Given the description of an element on the screen output the (x, y) to click on. 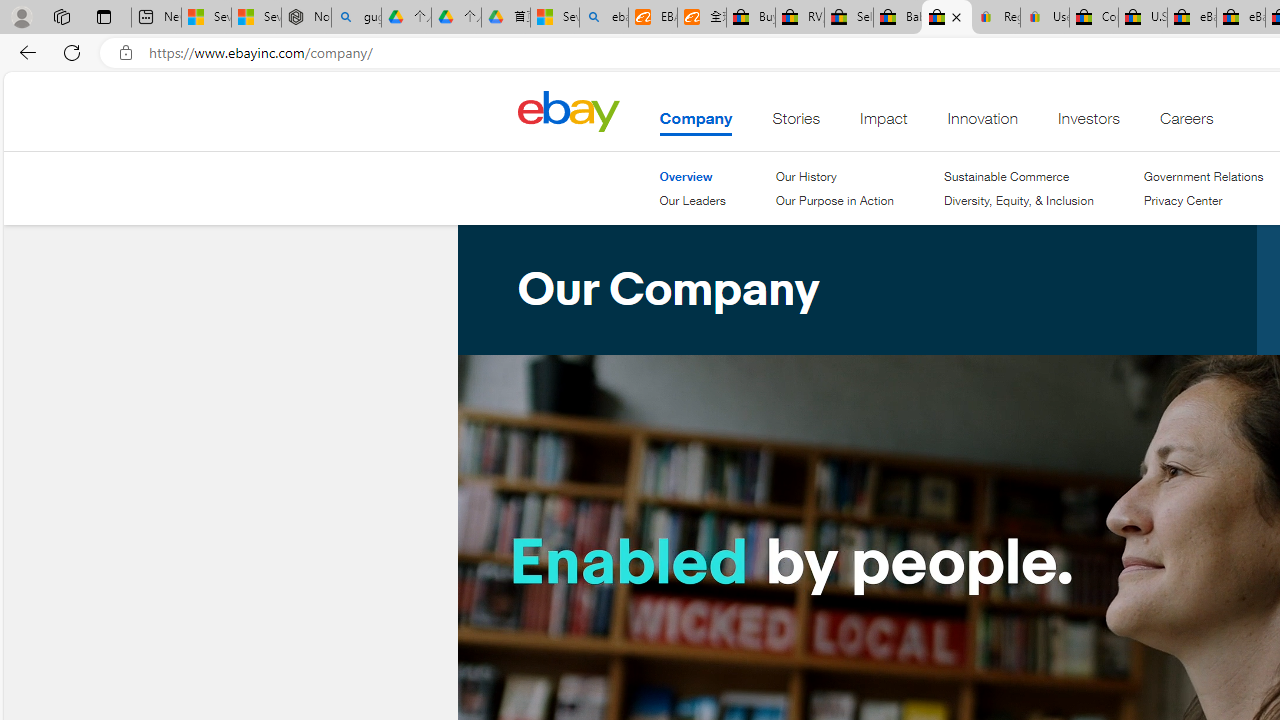
Our Company - eBay Inc. (946, 17)
Careers (1185, 123)
Impact (883, 123)
ebay - Search (603, 17)
Diversity, Equity, & Inclusion (1019, 200)
Stories (795, 123)
Impact (883, 123)
Home (568, 110)
Sustainable Commerce (1019, 176)
Diversity, Equity, & Inclusion (1019, 201)
Government Relations (1203, 176)
Home (568, 110)
